Given the description of an element on the screen output the (x, y) to click on. 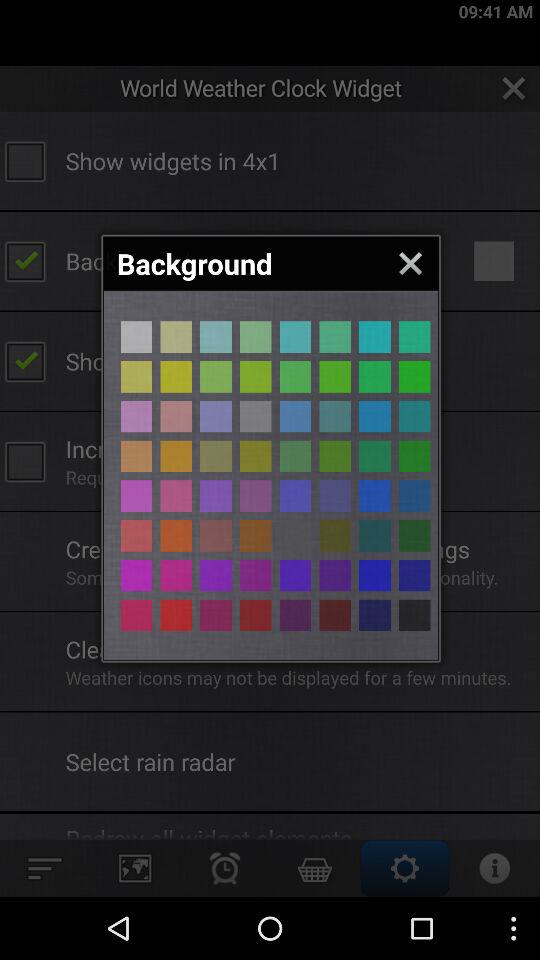
color selection (335, 336)
